Given the description of an element on the screen output the (x, y) to click on. 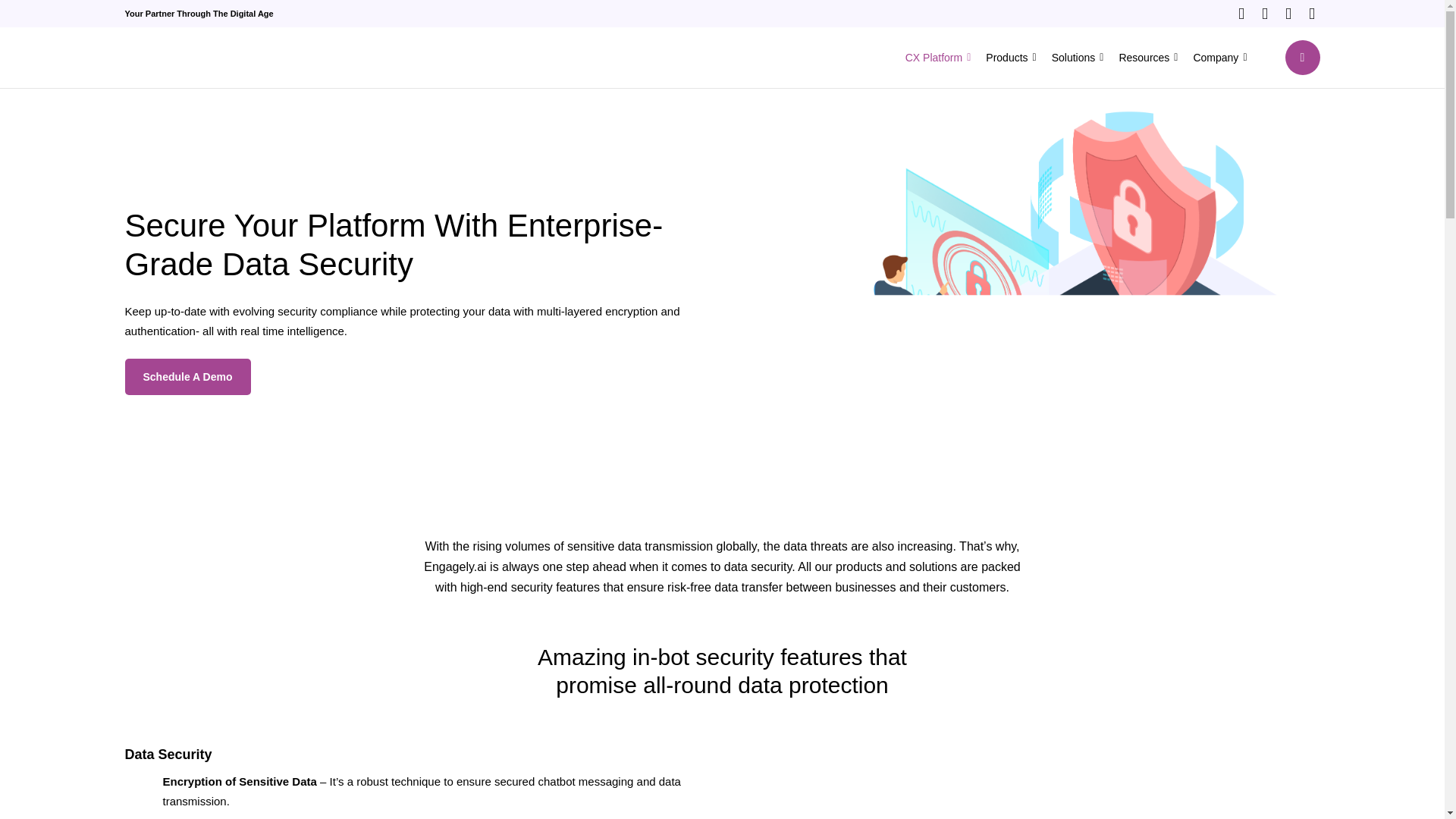
CX Platform (938, 57)
Products (1010, 57)
Solutions (1077, 57)
